Given the description of an element on the screen output the (x, y) to click on. 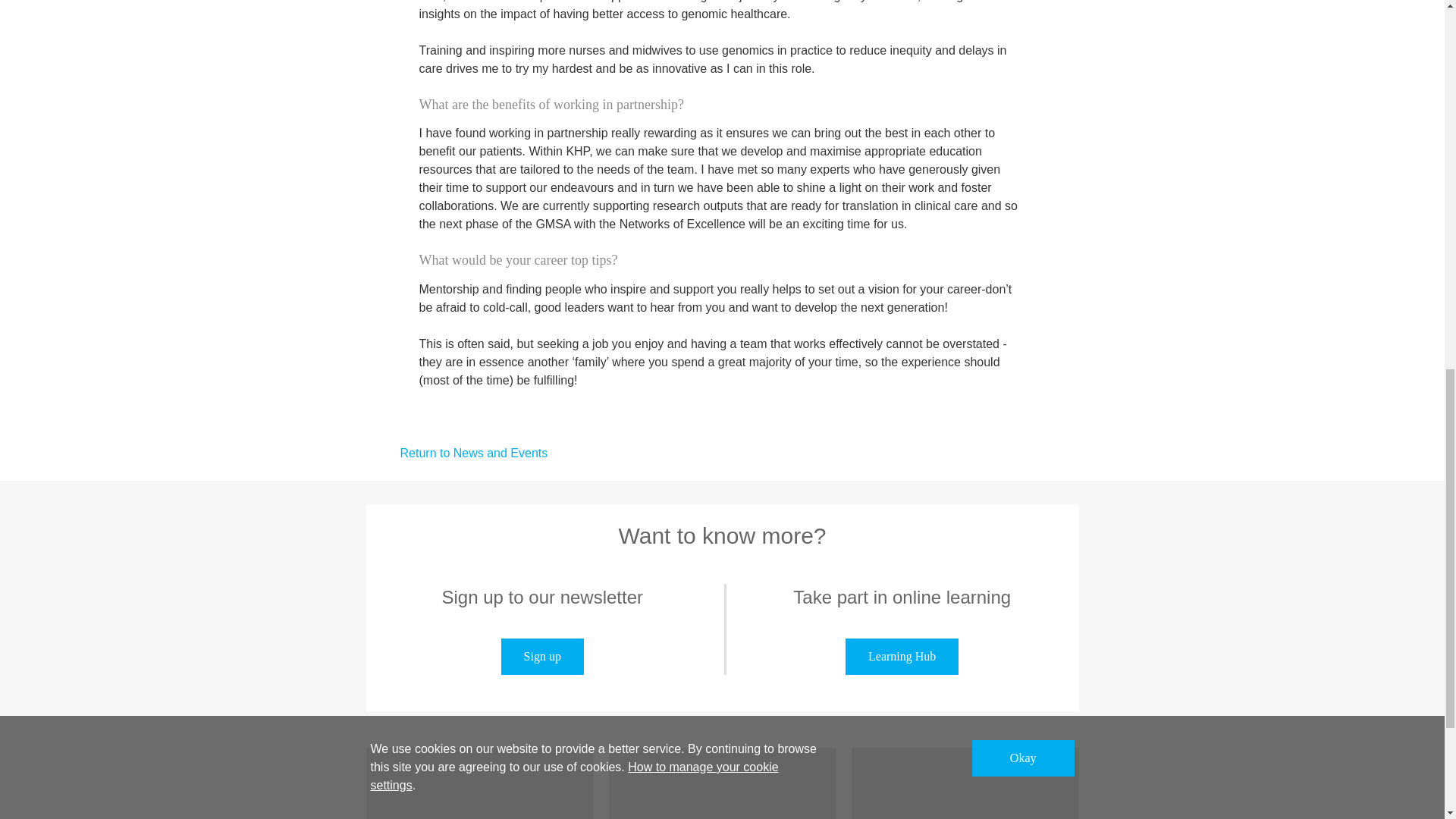
Return to News and Events (456, 452)
Linkedin (478, 783)
Sign up (541, 656)
Twitter (964, 783)
YouTube (721, 783)
Learning Hub (901, 656)
